Given the description of an element on the screen output the (x, y) to click on. 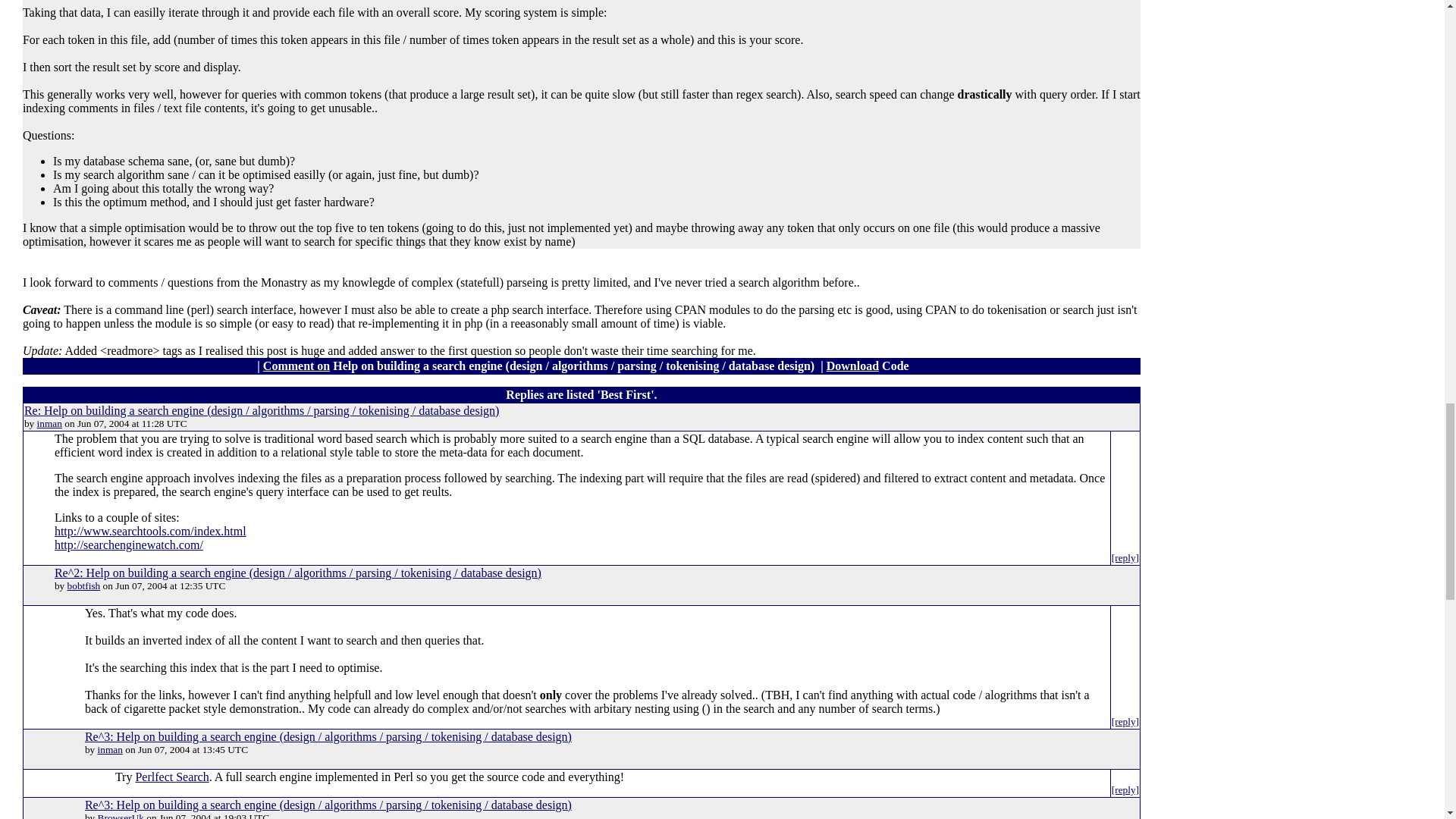
Comment on (296, 365)
Download (853, 365)
inman (49, 423)
